Given the description of an element on the screen output the (x, y) to click on. 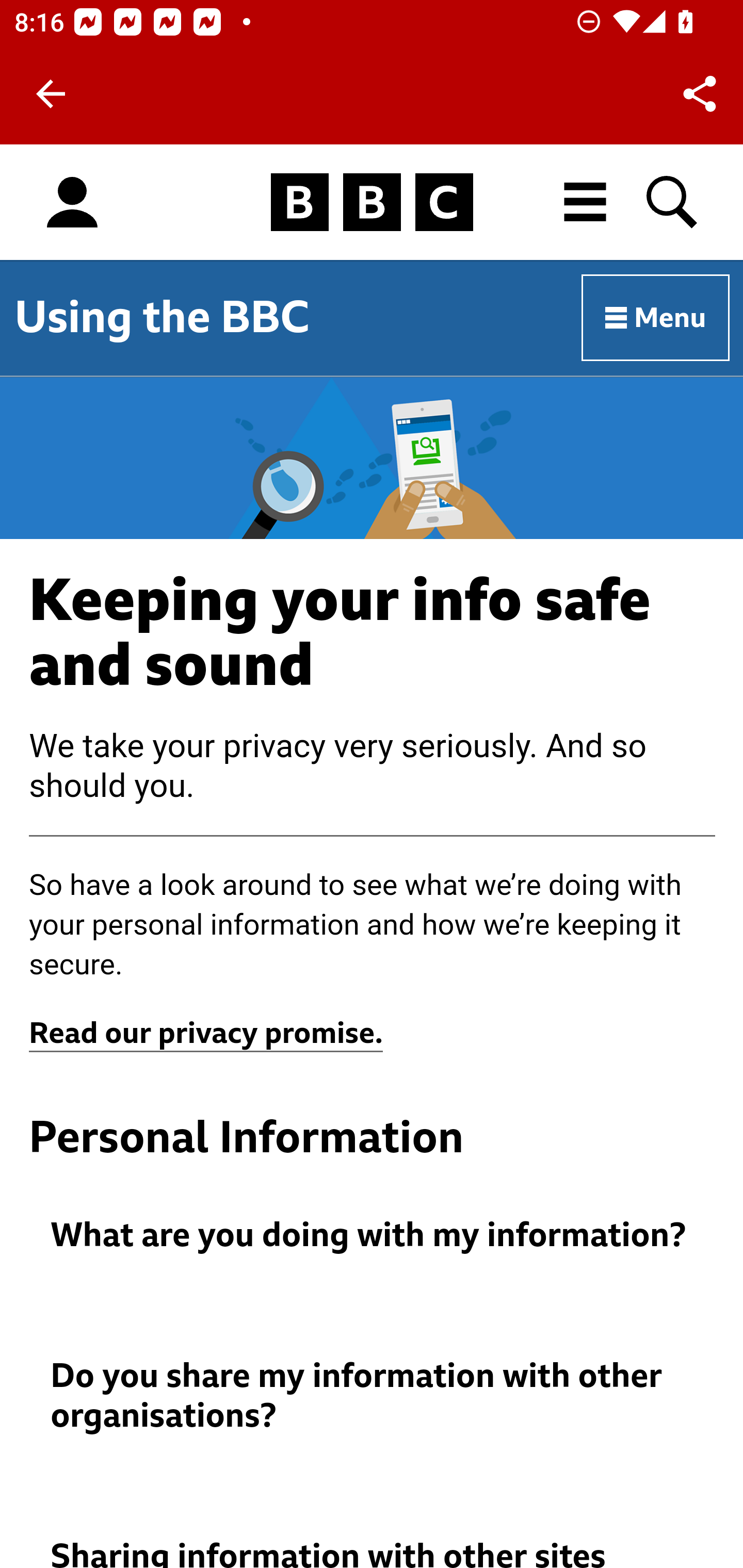
Back (50, 93)
Share (699, 93)
All BBC destinations menu (585, 202)
Search BBC (672, 202)
Sign in (71, 203)
Homepage (371, 203)
Menu (656, 318)
Using the BBC (162, 317)
Read our privacy promise. (206, 1034)
What are you doing with my information? (372, 1235)
Sharing information with other sites (372, 1552)
